Given the description of an element on the screen output the (x, y) to click on. 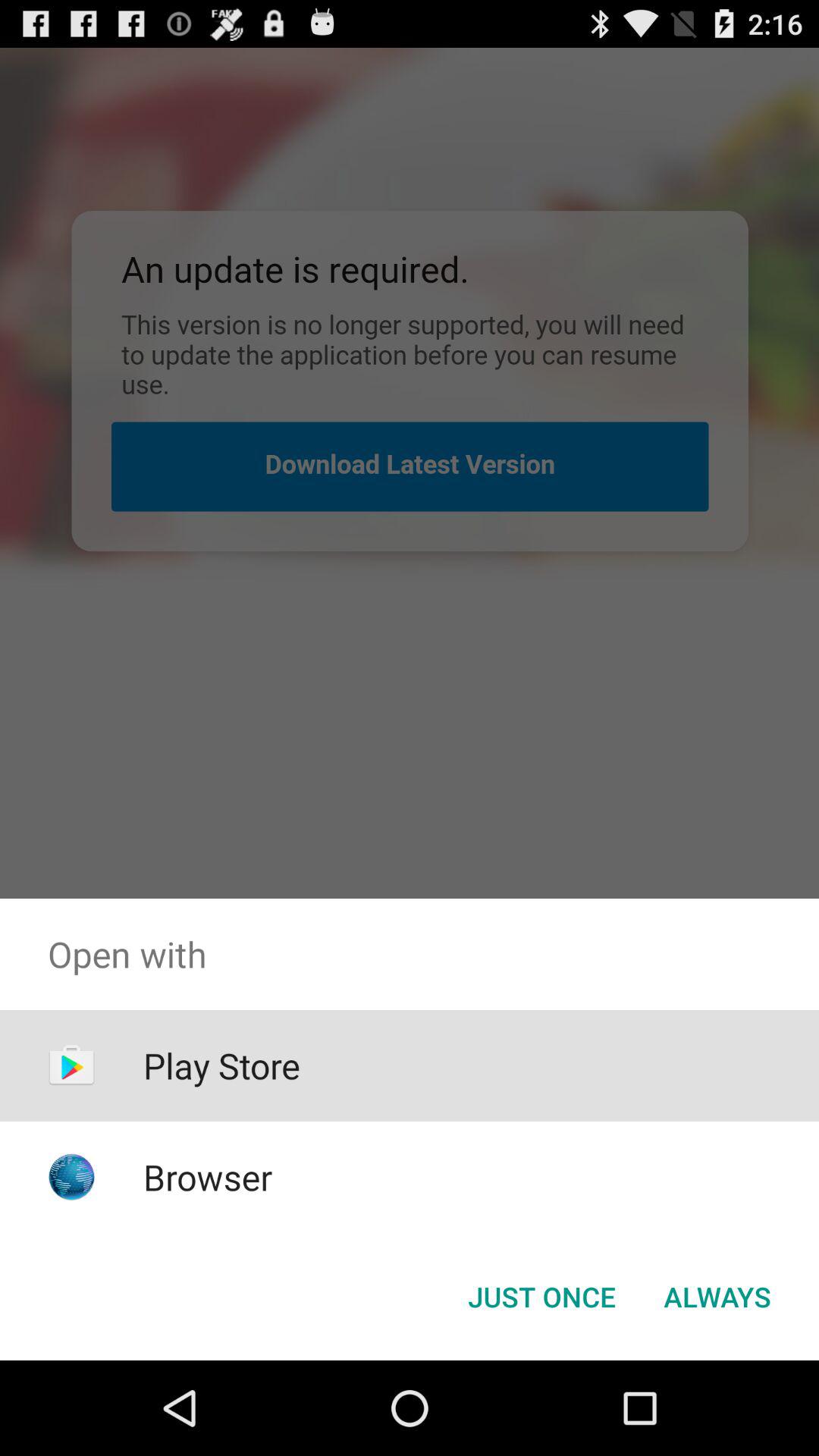
tap the button next to always icon (541, 1296)
